Given the description of an element on the screen output the (x, y) to click on. 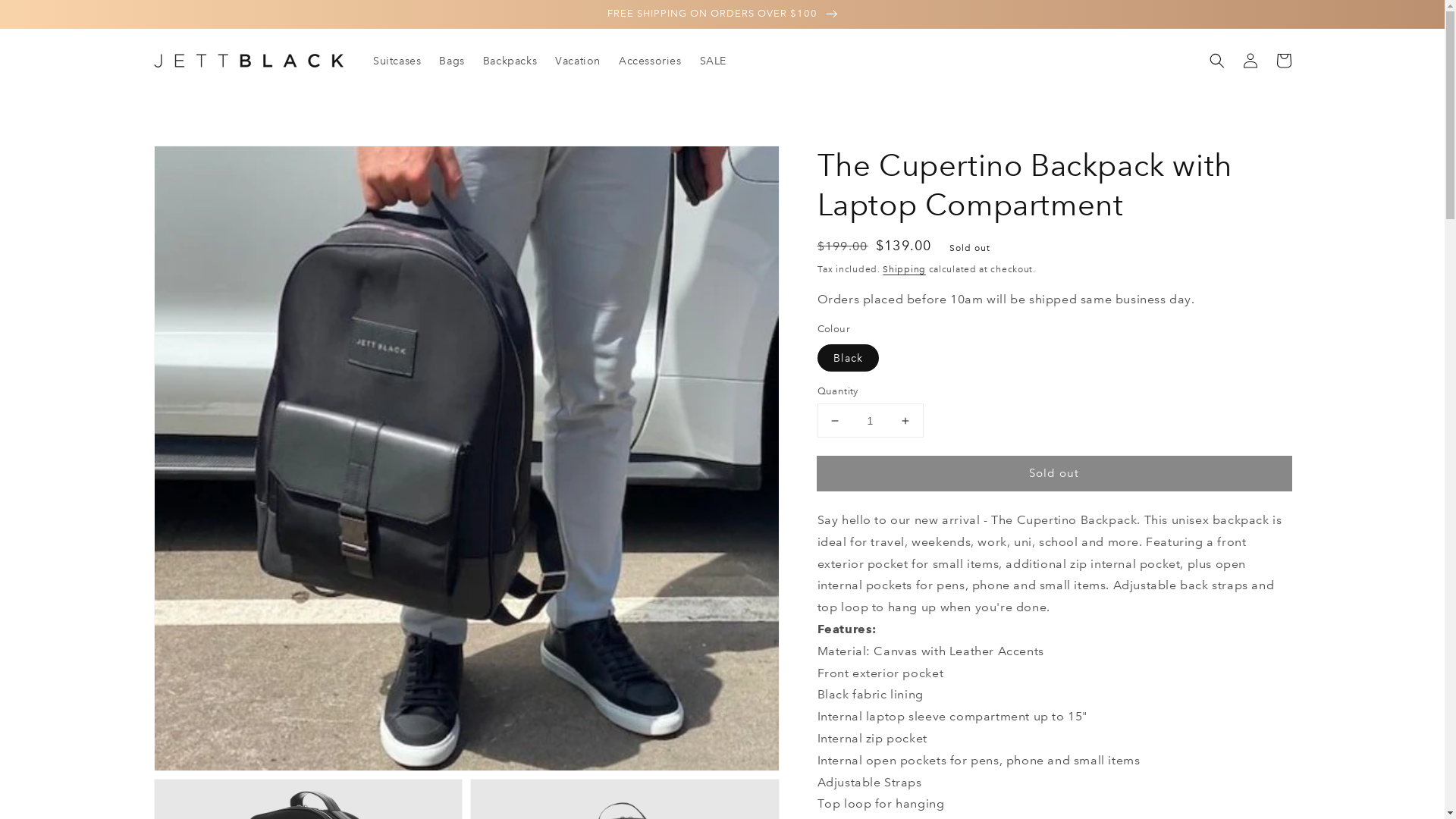
Shipping Element type: text (903, 269)
SALE Element type: text (712, 60)
Sold out Element type: text (1054, 473)
Cart Element type: text (1282, 60)
Backpacks Element type: text (509, 60)
Suitcases Element type: text (396, 60)
Skip to product information Element type: text (198, 161)
Accessories Element type: text (649, 60)
Bags Element type: text (451, 60)
FREE SHIPPING ON ORDERS OVER $100 Element type: text (722, 14)
Vacation Element type: text (577, 60)
Log in Element type: text (1249, 60)
